Given the description of an element on the screen output the (x, y) to click on. 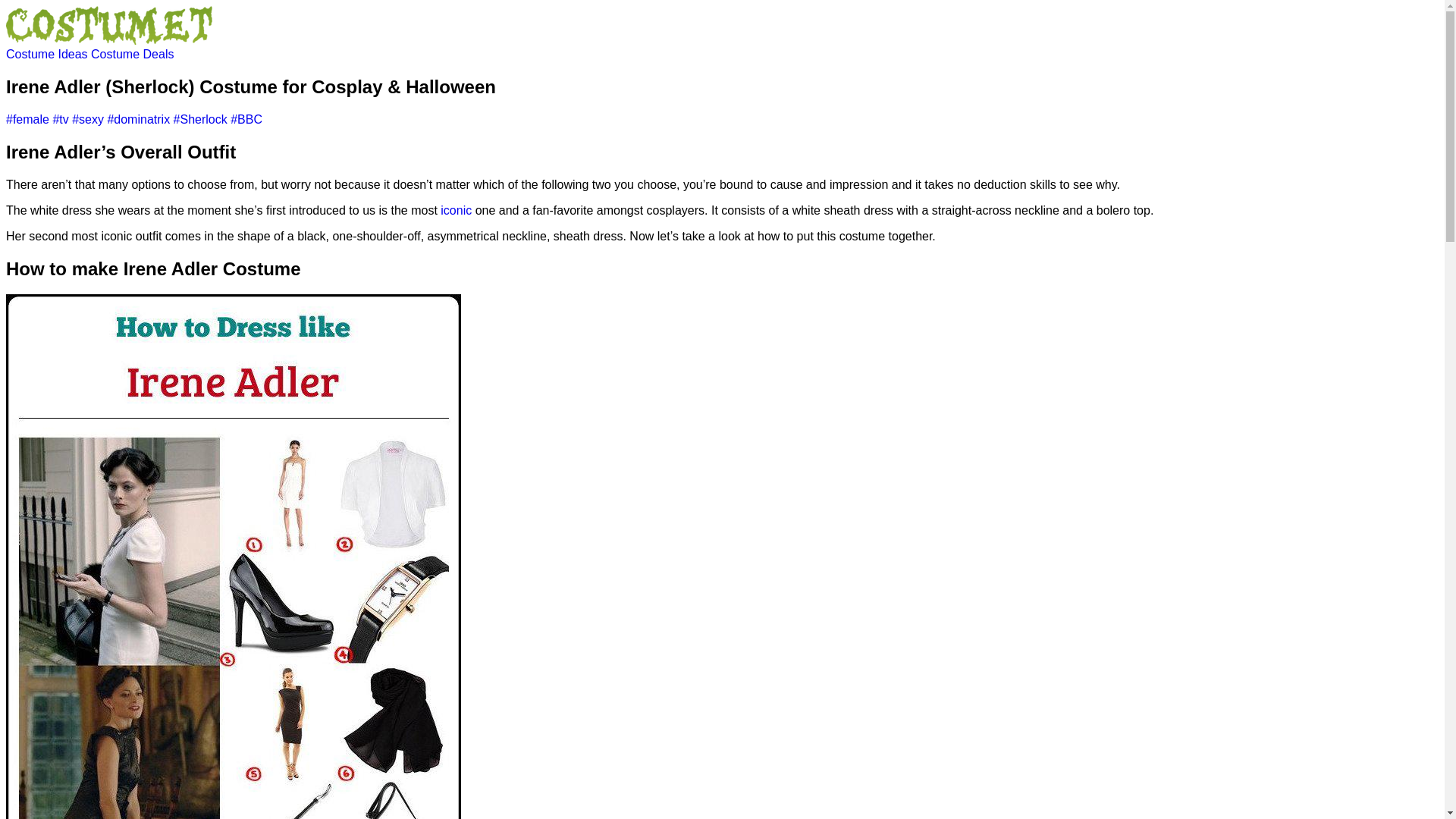
Costumet (108, 40)
Costume Ideas (47, 53)
Costume Deals (131, 53)
Costume Ideas (47, 53)
iconic (456, 210)
Costume Deals (131, 53)
